Given the description of an element on the screen output the (x, y) to click on. 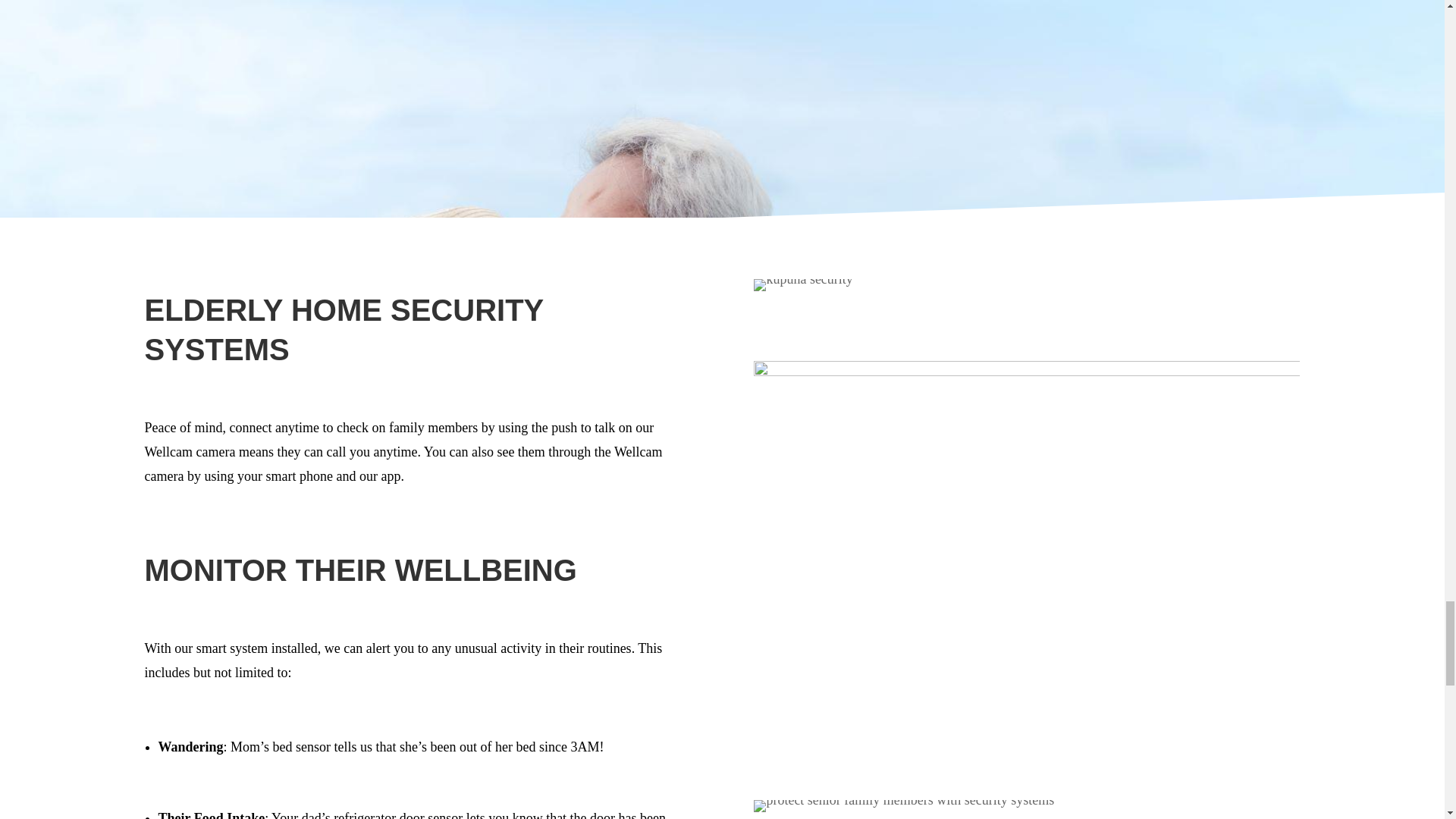
checking-on-mom (802, 285)
Senior security systems (904, 806)
